Given the description of an element on the screen output the (x, y) to click on. 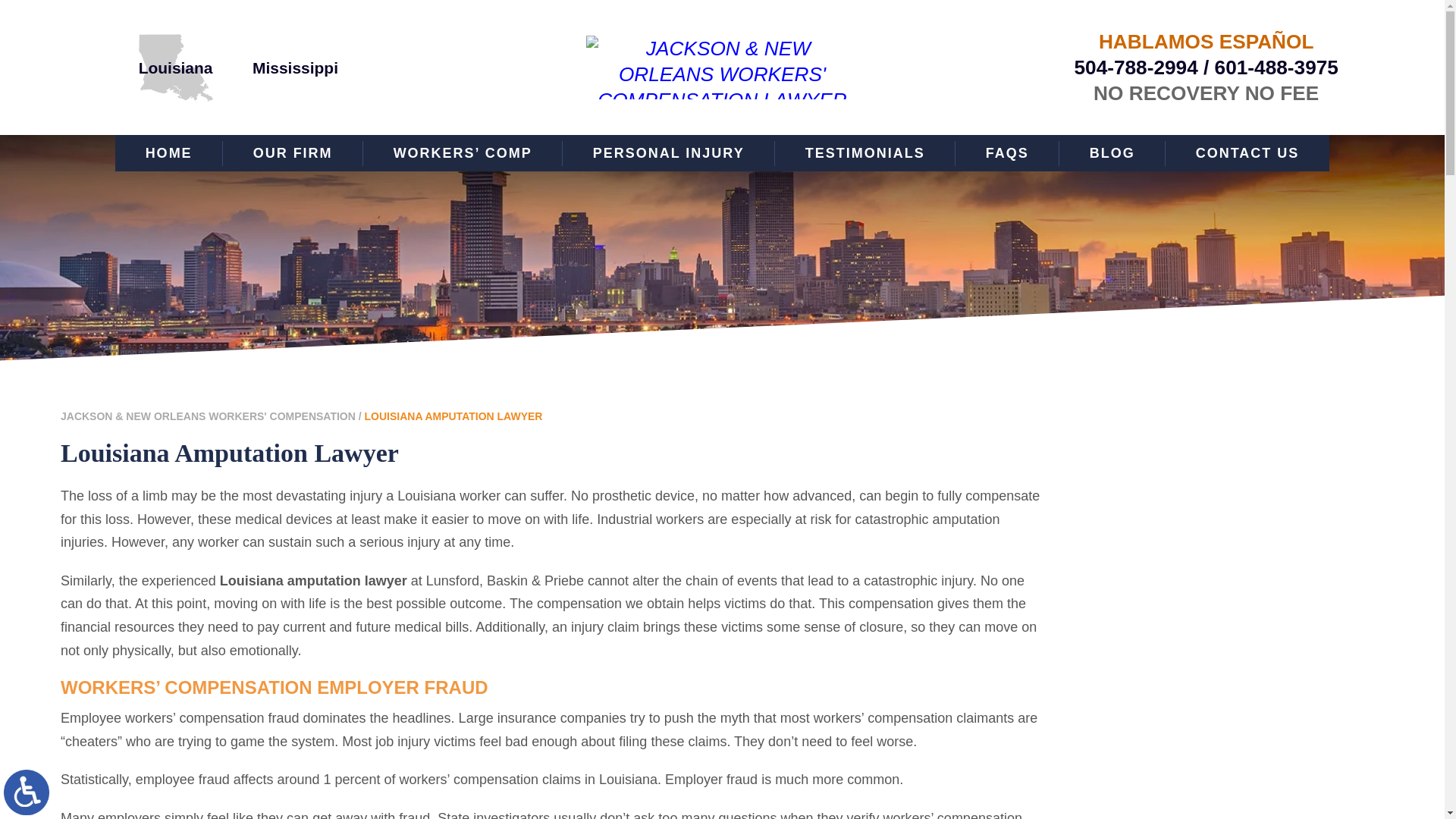
HOME (168, 153)
OUR FIRM (292, 153)
601-488-3975 (1276, 67)
504-788-2994 (1135, 67)
Louisiana (175, 67)
Switch to ADA Accessible Theme (26, 791)
Mississippi (294, 67)
